Given the description of an element on the screen output the (x, y) to click on. 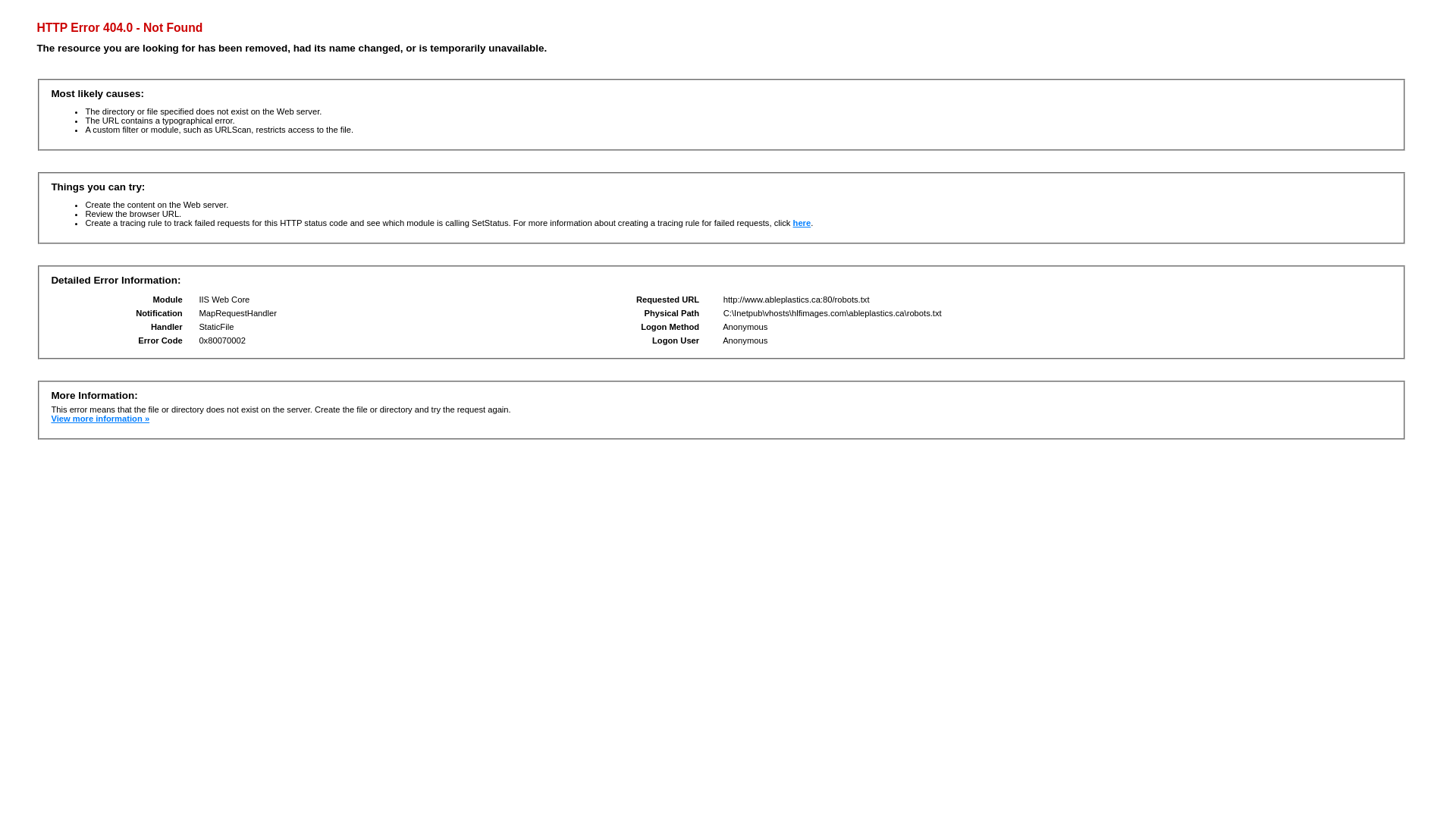
here Element type: text (802, 222)
